Given the description of an element on the screen output the (x, y) to click on. 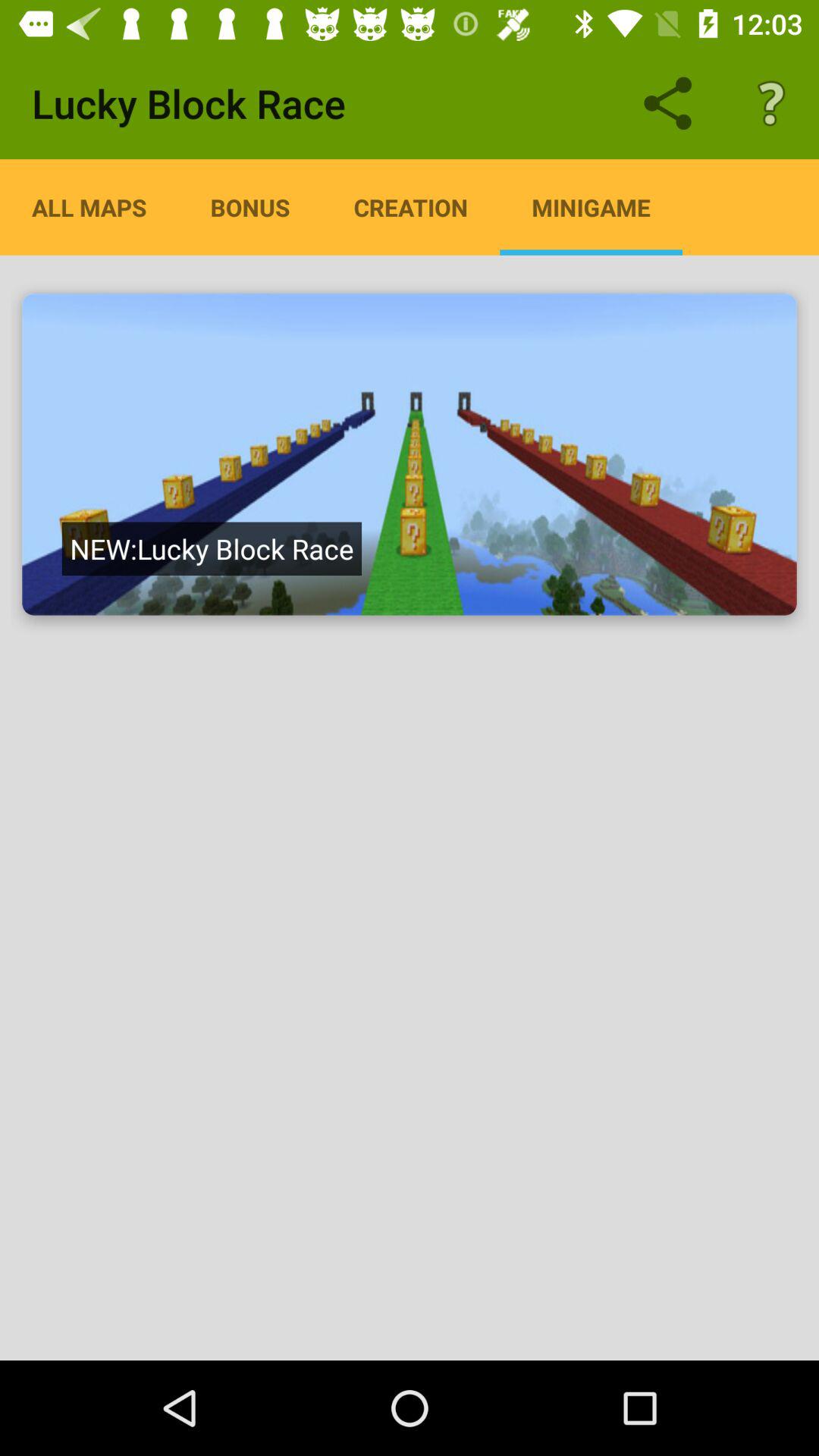
turn on minigame app (590, 207)
